Given the description of an element on the screen output the (x, y) to click on. 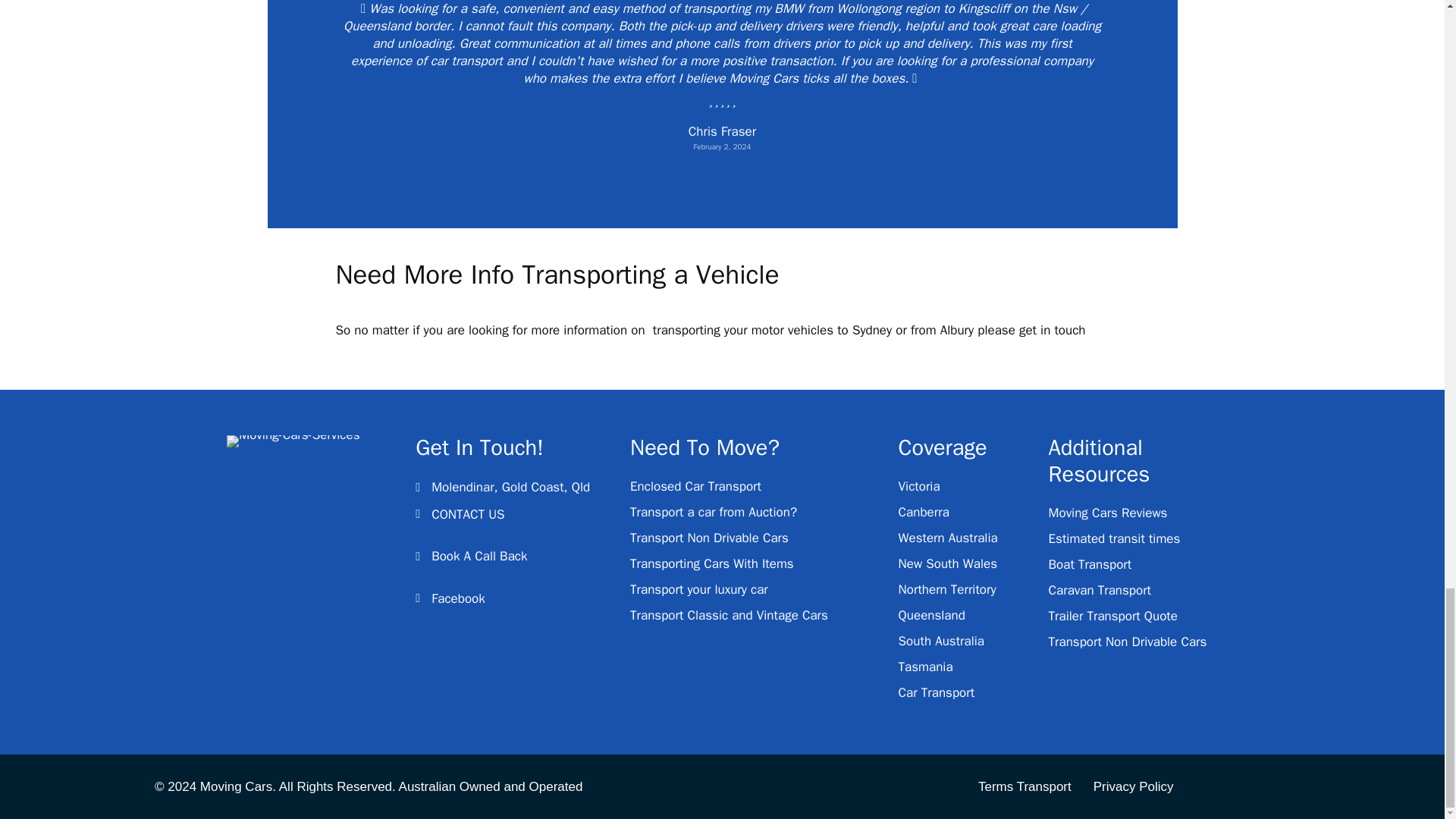
Canberra (923, 512)
Moving-Cars-Services (293, 440)
Facebook (457, 598)
Book A Call Back (478, 556)
CONTACT US (466, 514)
Transport a car from Auction? (713, 512)
Transport Classic and Vintage Cars (729, 615)
New South Wales (947, 563)
Enclosed Car Transport (695, 486)
Victoria (919, 486)
